Given the description of an element on the screen output the (x, y) to click on. 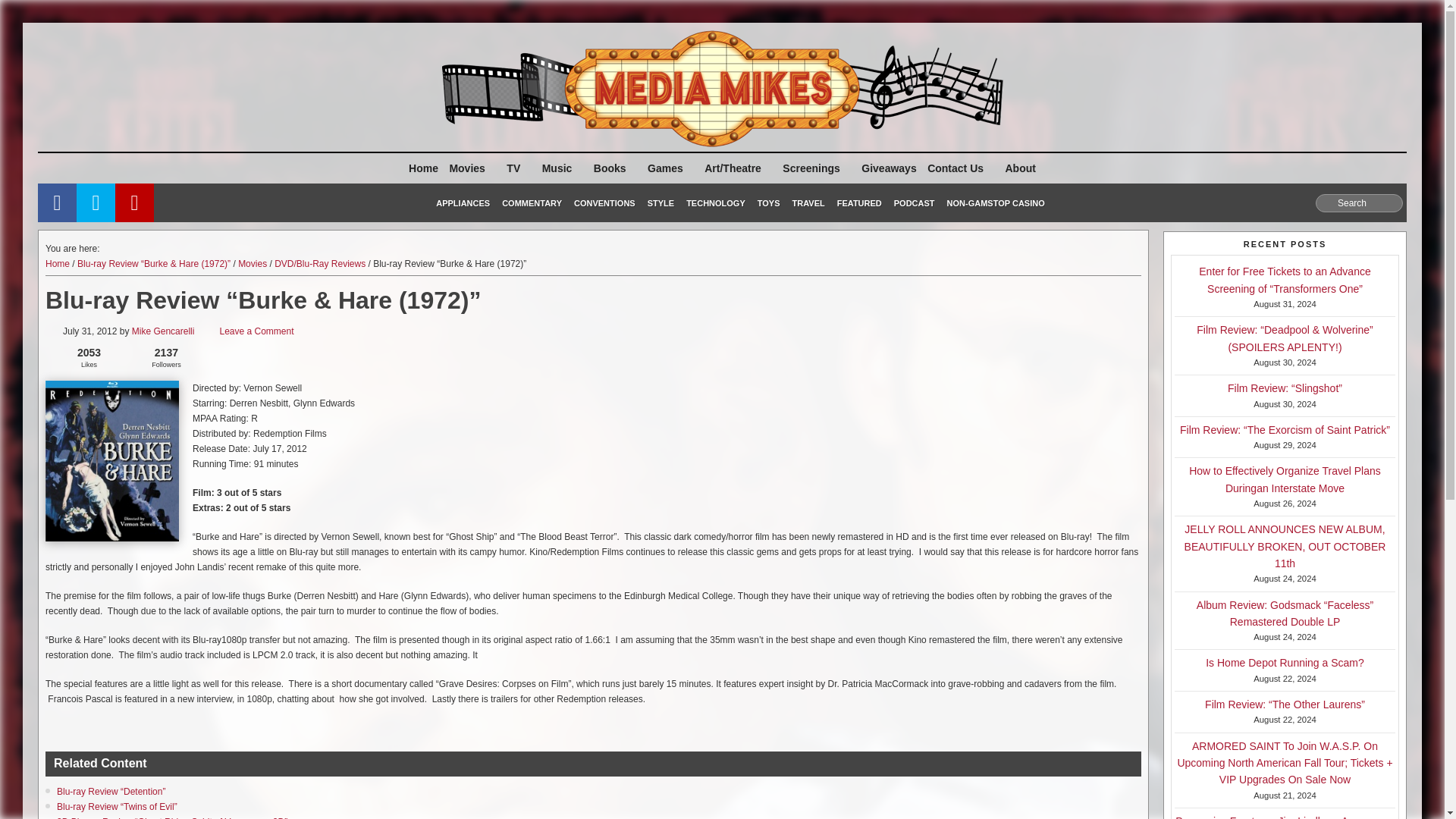
Games (670, 168)
Home (423, 168)
1:55 pm (82, 331)
Books (614, 168)
Posts by Mike Gencarelli (163, 330)
Music (562, 168)
Search (1359, 203)
TV (518, 168)
Movies (472, 168)
